Given the description of an element on the screen output the (x, y) to click on. 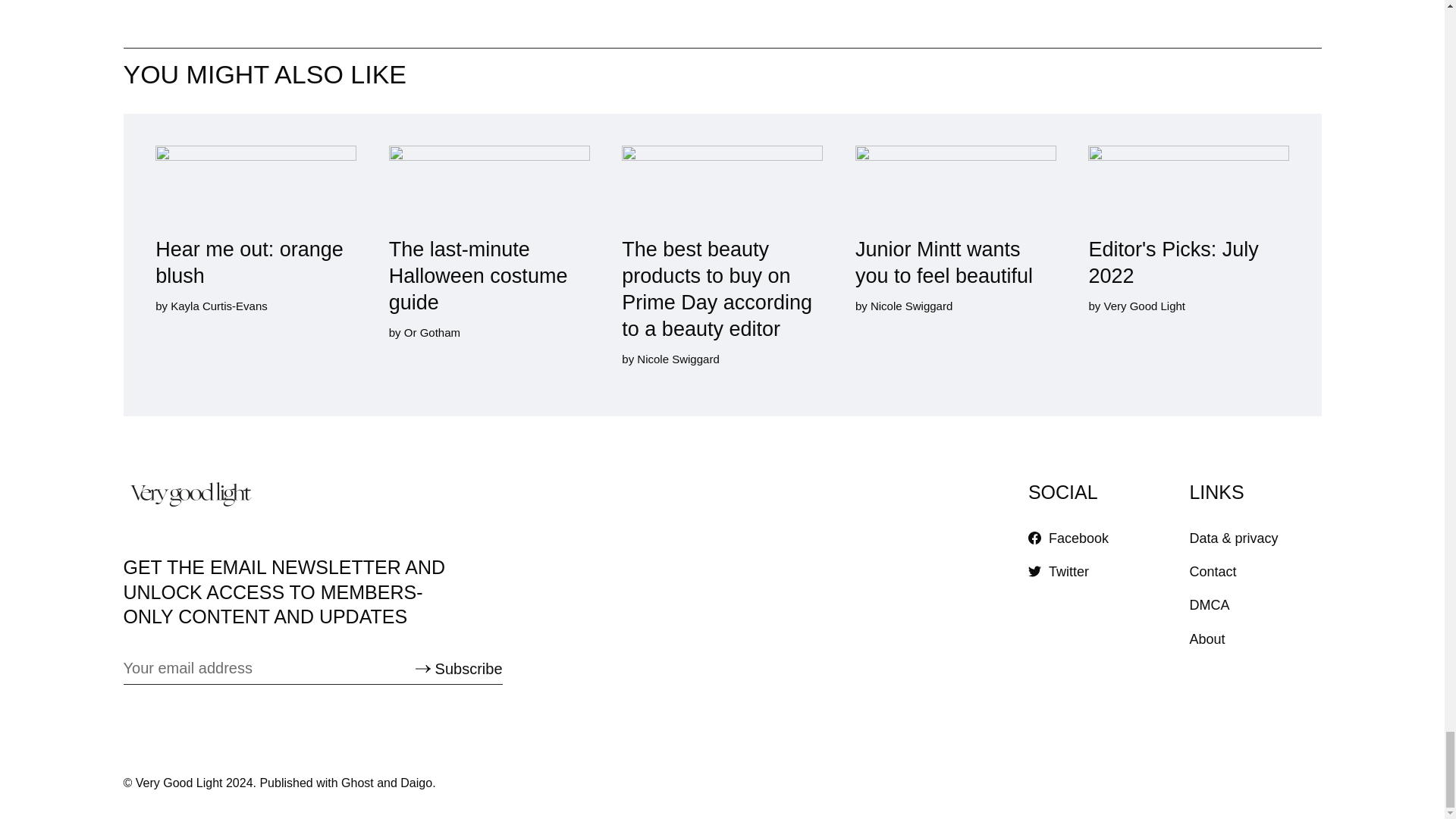
The last-minute Halloween costume guide (488, 230)
DMCA (1208, 604)
Kayla Curtis-Evans (218, 305)
Editor's Picks: July 2022 (1187, 217)
Subscribe (458, 668)
Twitter (1058, 571)
Facebook (1067, 538)
Nicole Swiggard (678, 358)
Or Gotham (431, 332)
